Given the description of an element on the screen output the (x, y) to click on. 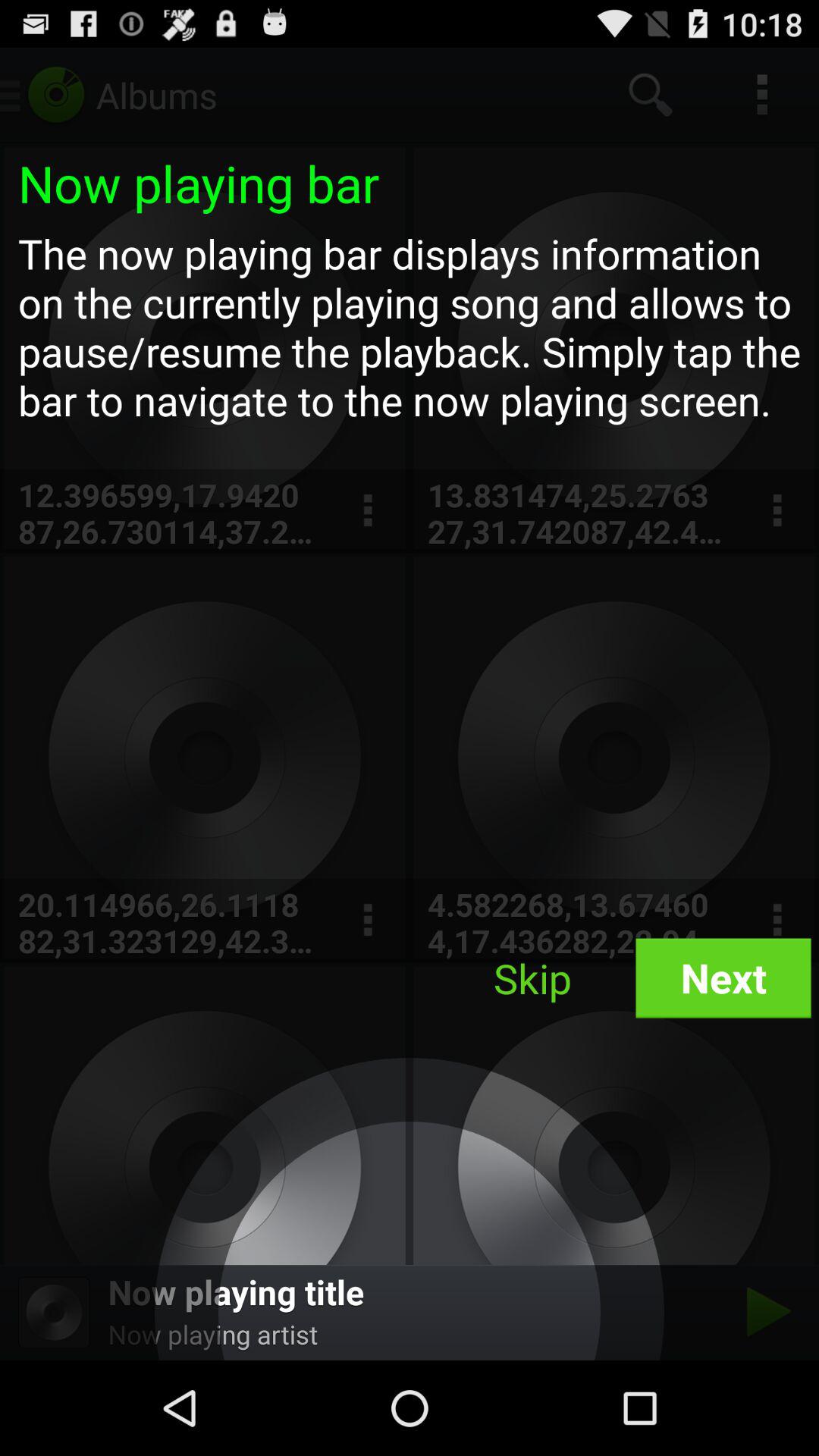
open more options (367, 510)
